Given the description of an element on the screen output the (x, y) to click on. 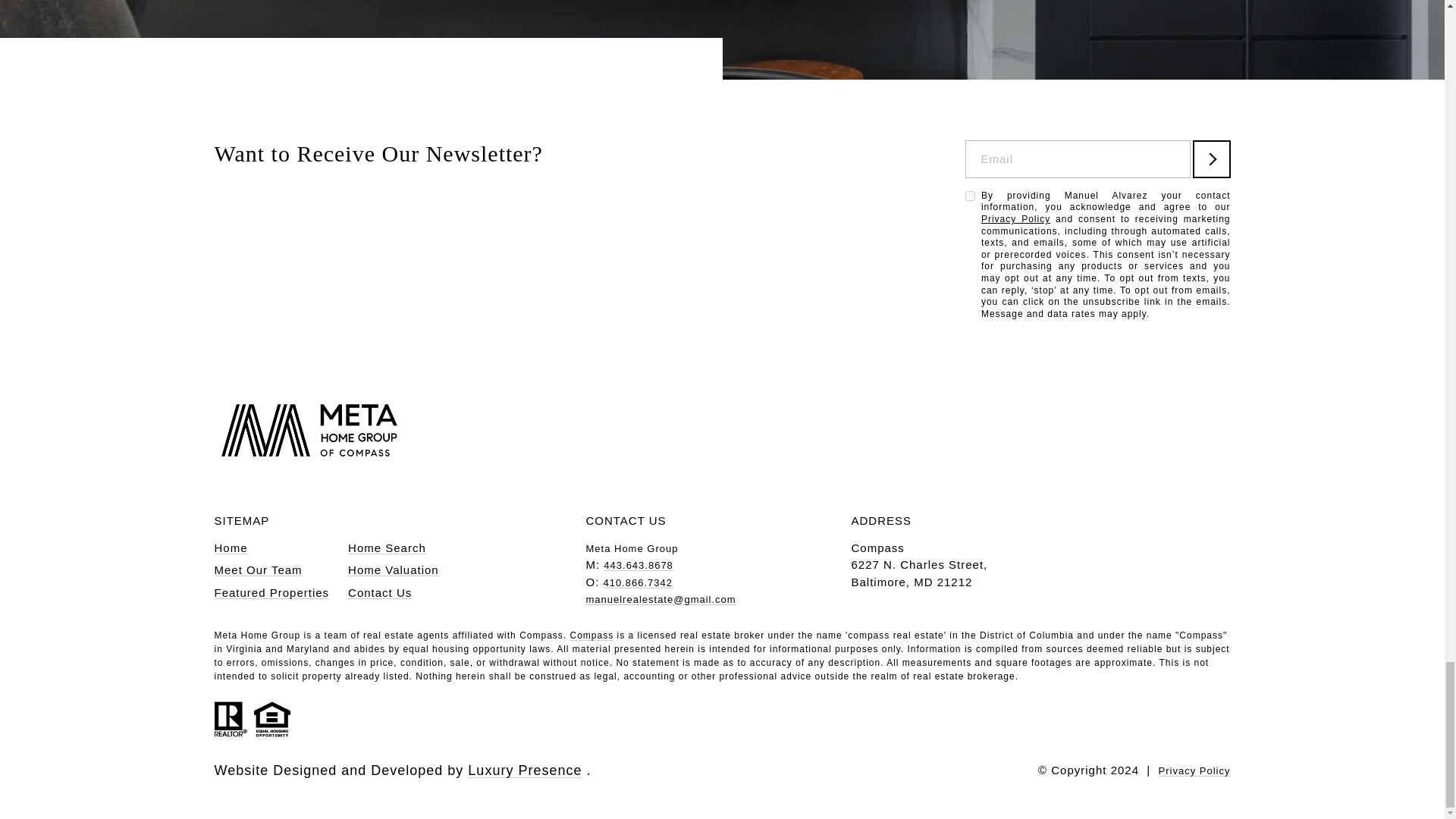
tel:4108667342 (638, 582)
tel:4436438678 (638, 564)
on (968, 195)
